Given the description of an element on the screen output the (x, y) to click on. 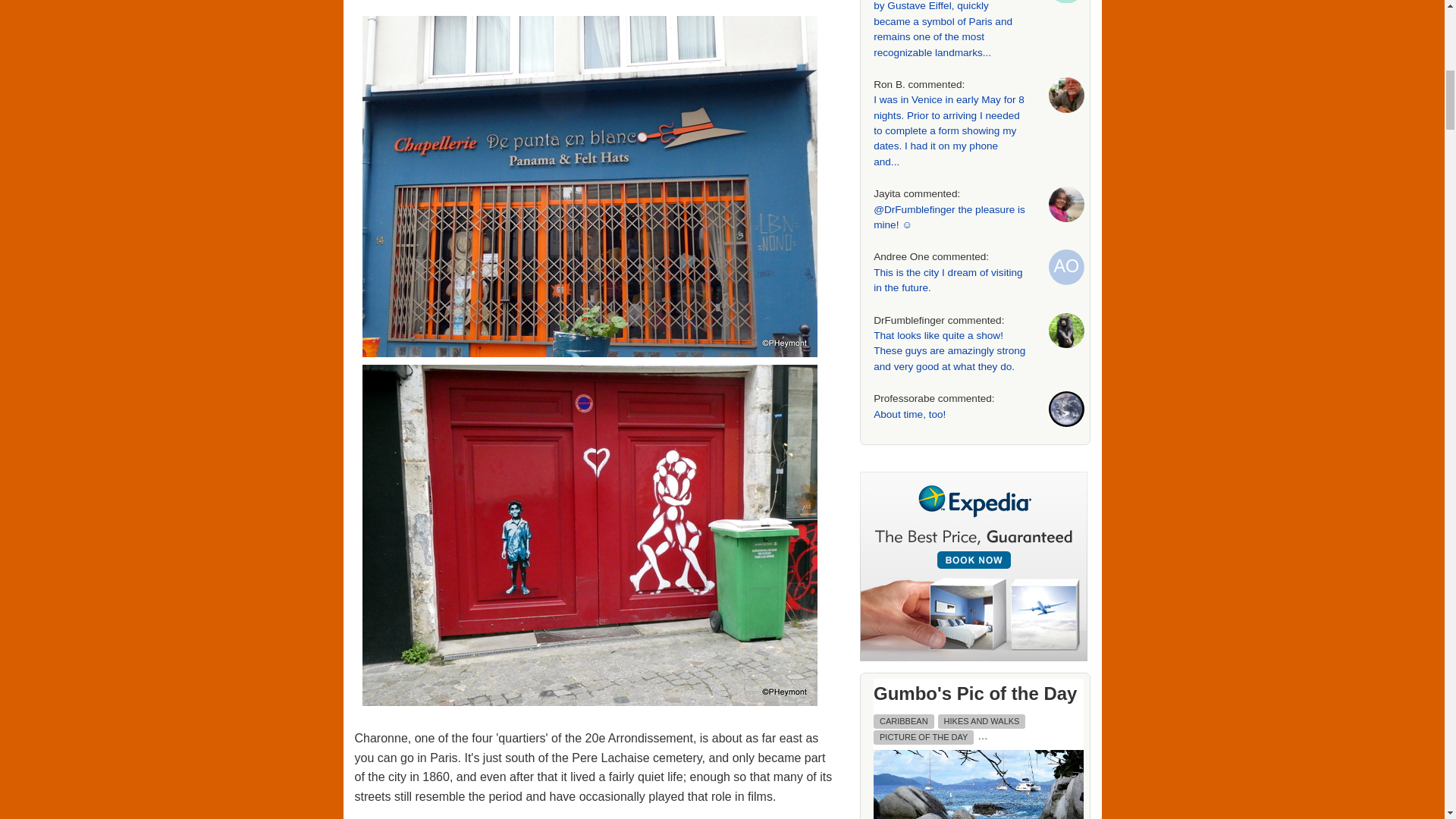
AO (1066, 267)
L (1066, 1)
